Given the description of an element on the screen output the (x, y) to click on. 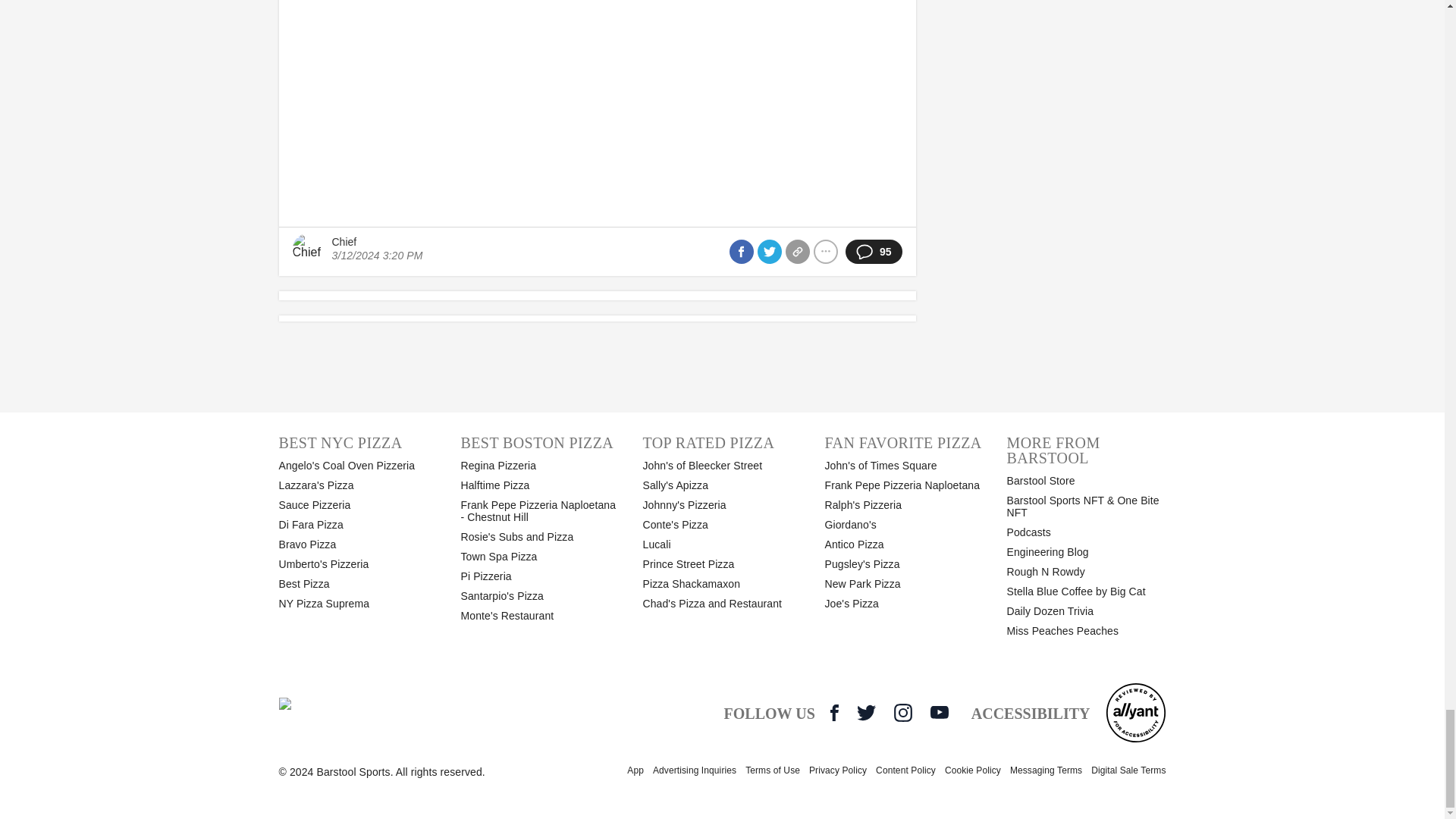
Reviewed by Allyant for accessibility (1135, 712)
YouTube Icon (939, 711)
Twitter Icon (866, 712)
Instagram Icon (902, 712)
